Given the description of an element on the screen output the (x, y) to click on. 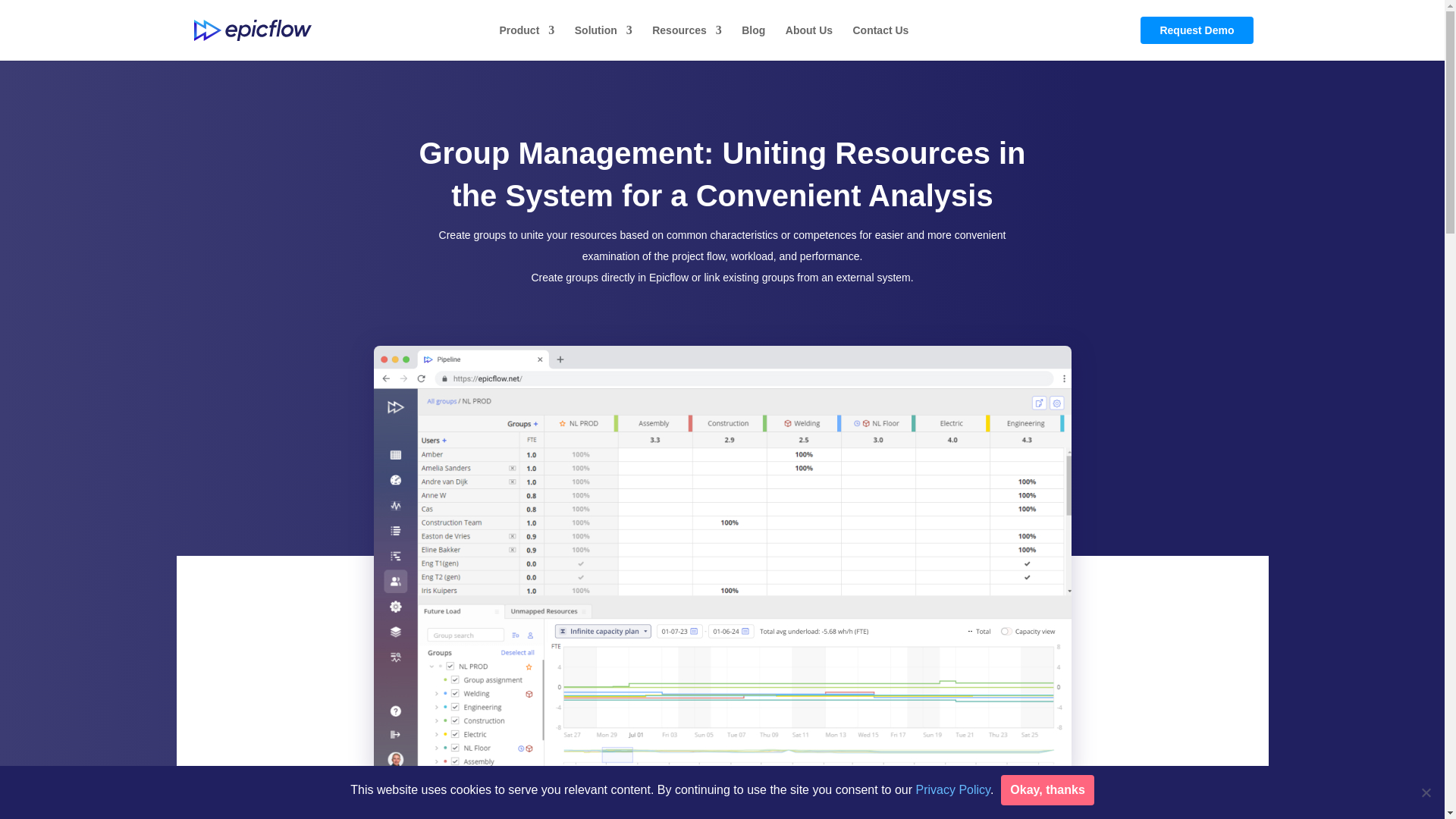
Contact Us (879, 42)
About Us (809, 42)
Request Demo (1195, 30)
No (1425, 792)
Product (526, 42)
Resources (687, 42)
Solution (603, 42)
